Given the description of an element on the screen output the (x, y) to click on. 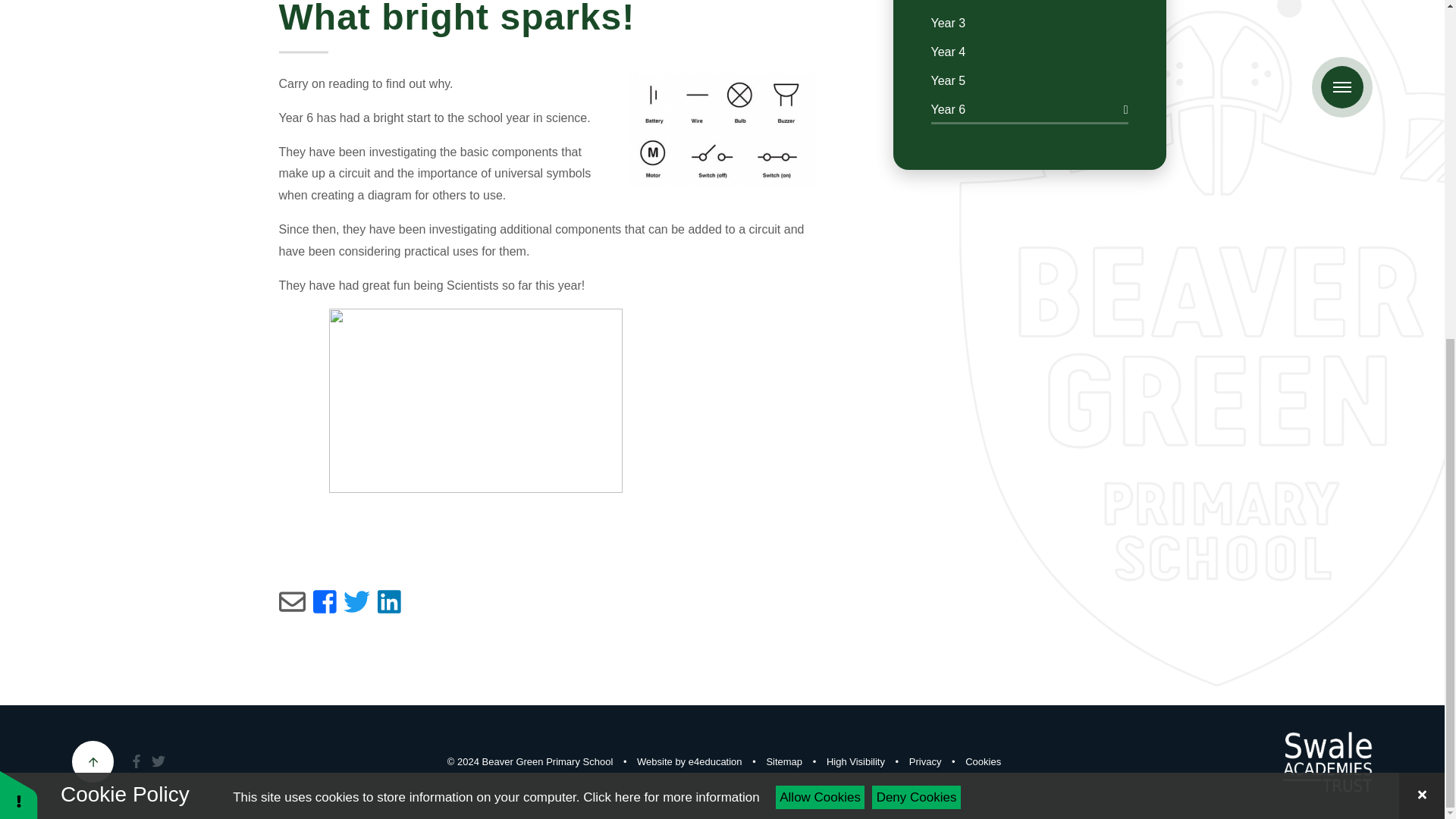
Scroll to Top (92, 761)
Deny Cookies (915, 223)
Allow Cookies (820, 223)
Cookie Settings (983, 761)
See cookie policy (670, 223)
Swale Academies Trust (1327, 762)
